Given the description of an element on the screen output the (x, y) to click on. 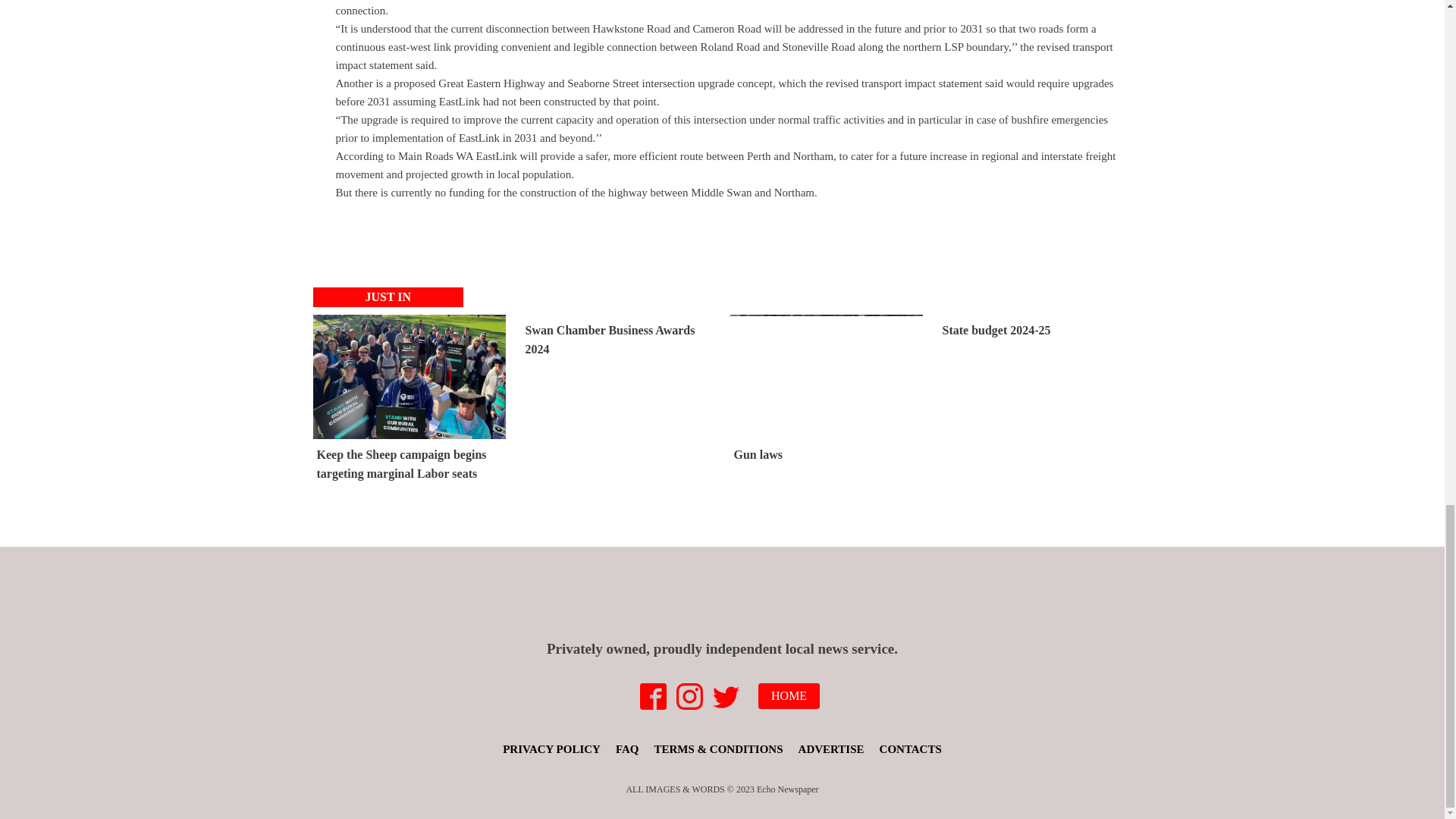
PRIVACY POLICY (551, 749)
ADVERTISE (831, 749)
State budget 2024-25 (996, 330)
FAQ (627, 749)
Gun laws (826, 392)
Swan Chamber Business Awards 2024 (617, 339)
HOME (788, 696)
CONTACTS (910, 749)
